Given the description of an element on the screen output the (x, y) to click on. 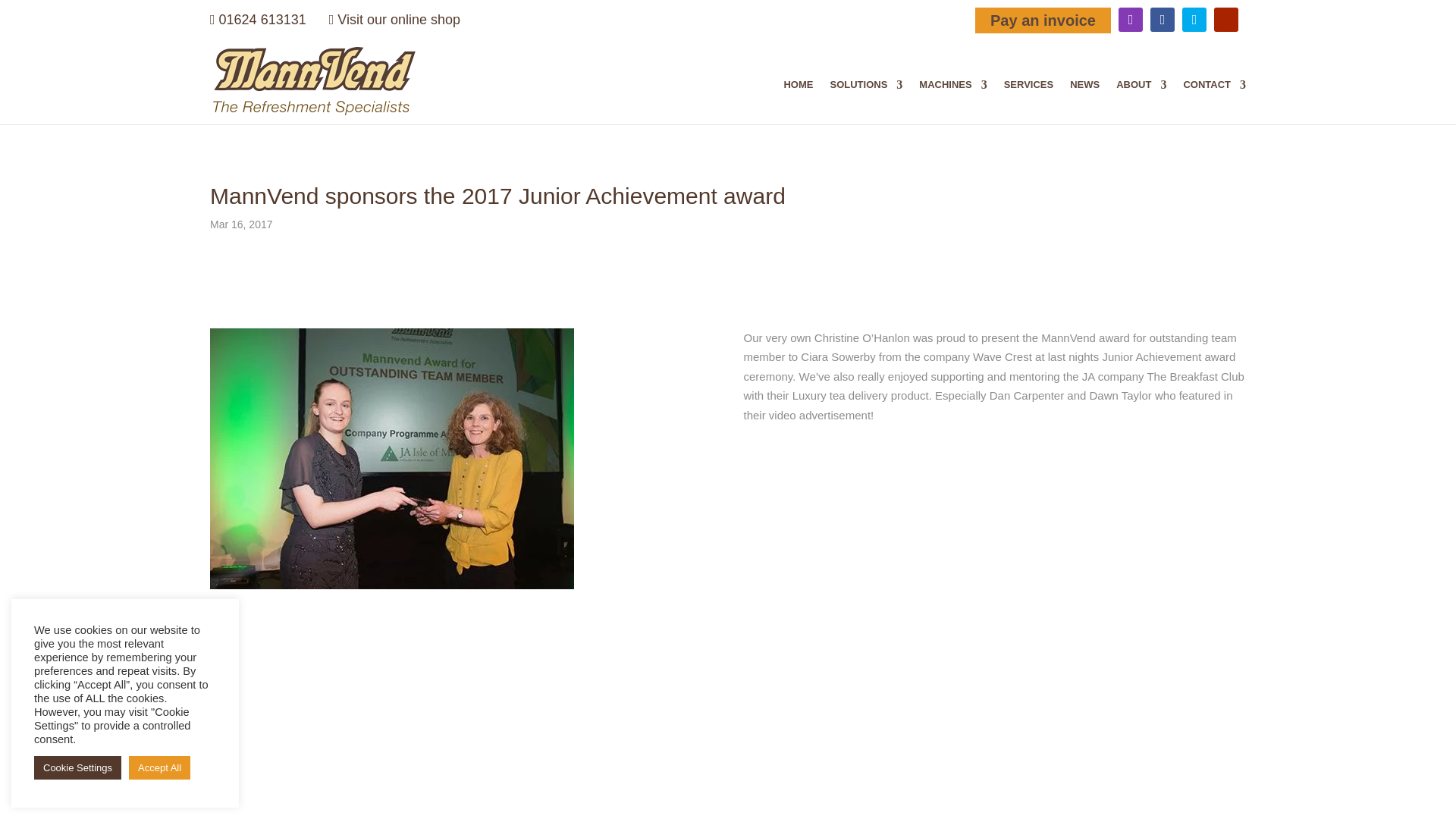
SOLUTIONS (865, 101)
Pay an invoice (1042, 20)
Youtube (1226, 19)
SERVICES (1029, 101)
MACHINES (952, 101)
facebook (1162, 19)
Visit our online shop (394, 19)
Twitter (1194, 19)
instagram (1130, 19)
Mannvend presents the JA award for Outstanding Team member (391, 457)
